Given the description of an element on the screen output the (x, y) to click on. 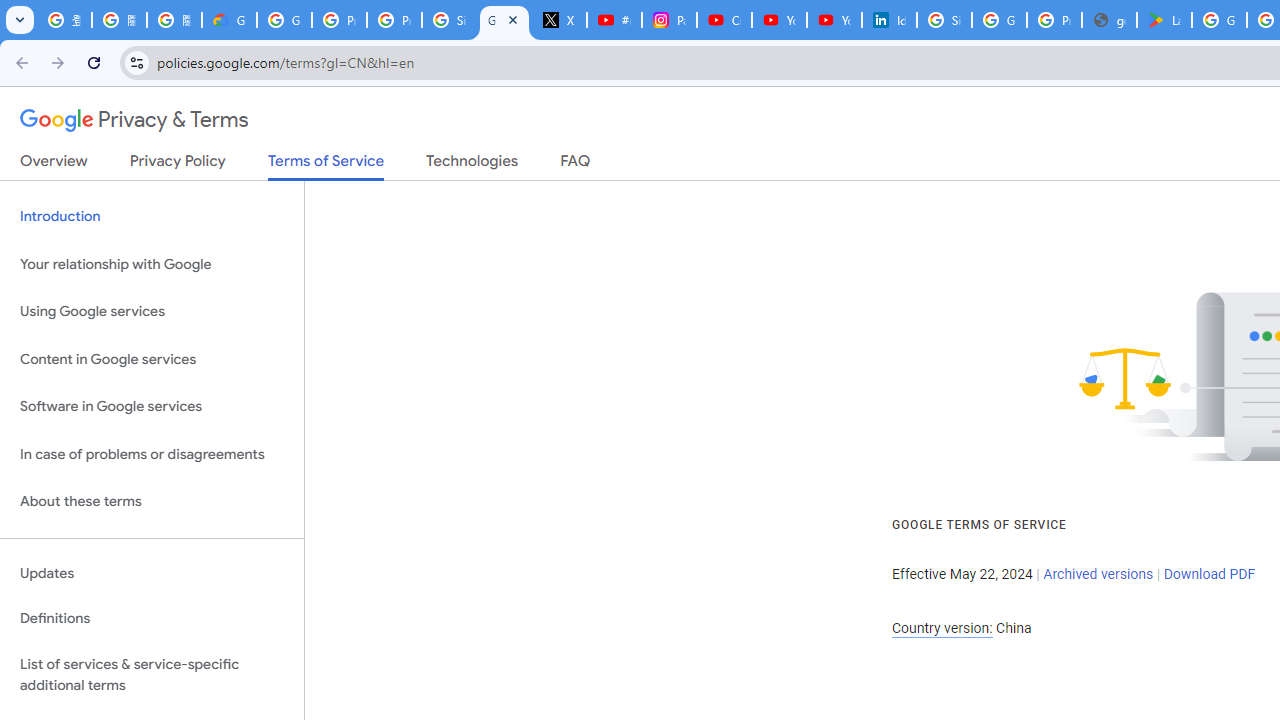
Sign in - Google Accounts (943, 20)
#nbabasketballhighlights - YouTube (614, 20)
Country version: (942, 628)
google_privacy_policy_en.pdf (1108, 20)
Software in Google services (152, 407)
Introduction (152, 216)
Google Cloud Privacy Notice (229, 20)
